Given the description of an element on the screen output the (x, y) to click on. 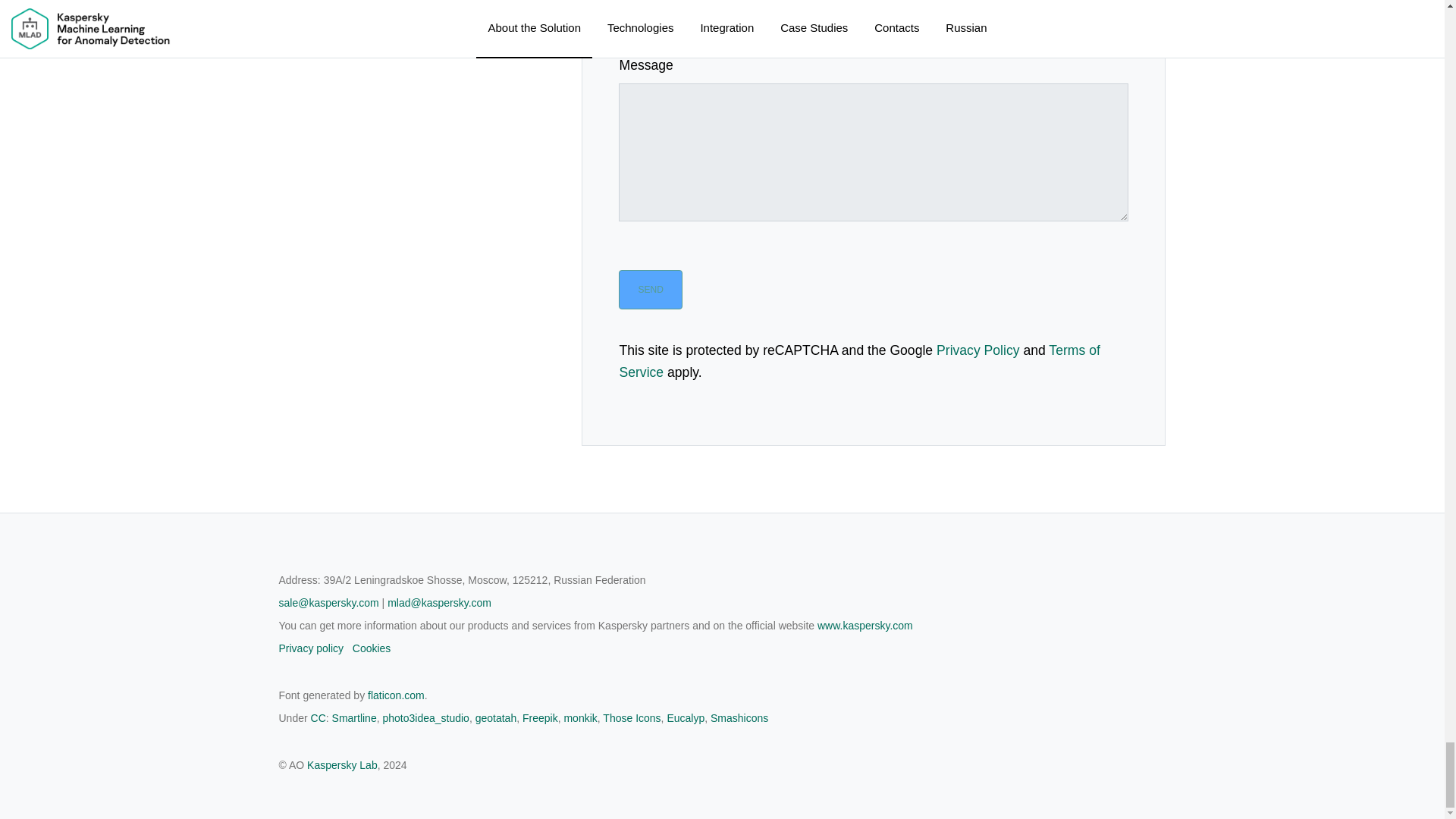
monkik (579, 717)
Smashicons (739, 717)
geotatah (496, 717)
Smartline (354, 717)
Those Icons (631, 717)
Privacy Policy (978, 350)
Privacy policy (311, 648)
Send (649, 289)
Freepik (539, 717)
Eucalyp (685, 717)
Terms of Service (858, 361)
flaticon.com (396, 695)
www.kaspersky.com (864, 625)
Send (649, 289)
CC (318, 717)
